Given the description of an element on the screen output the (x, y) to click on. 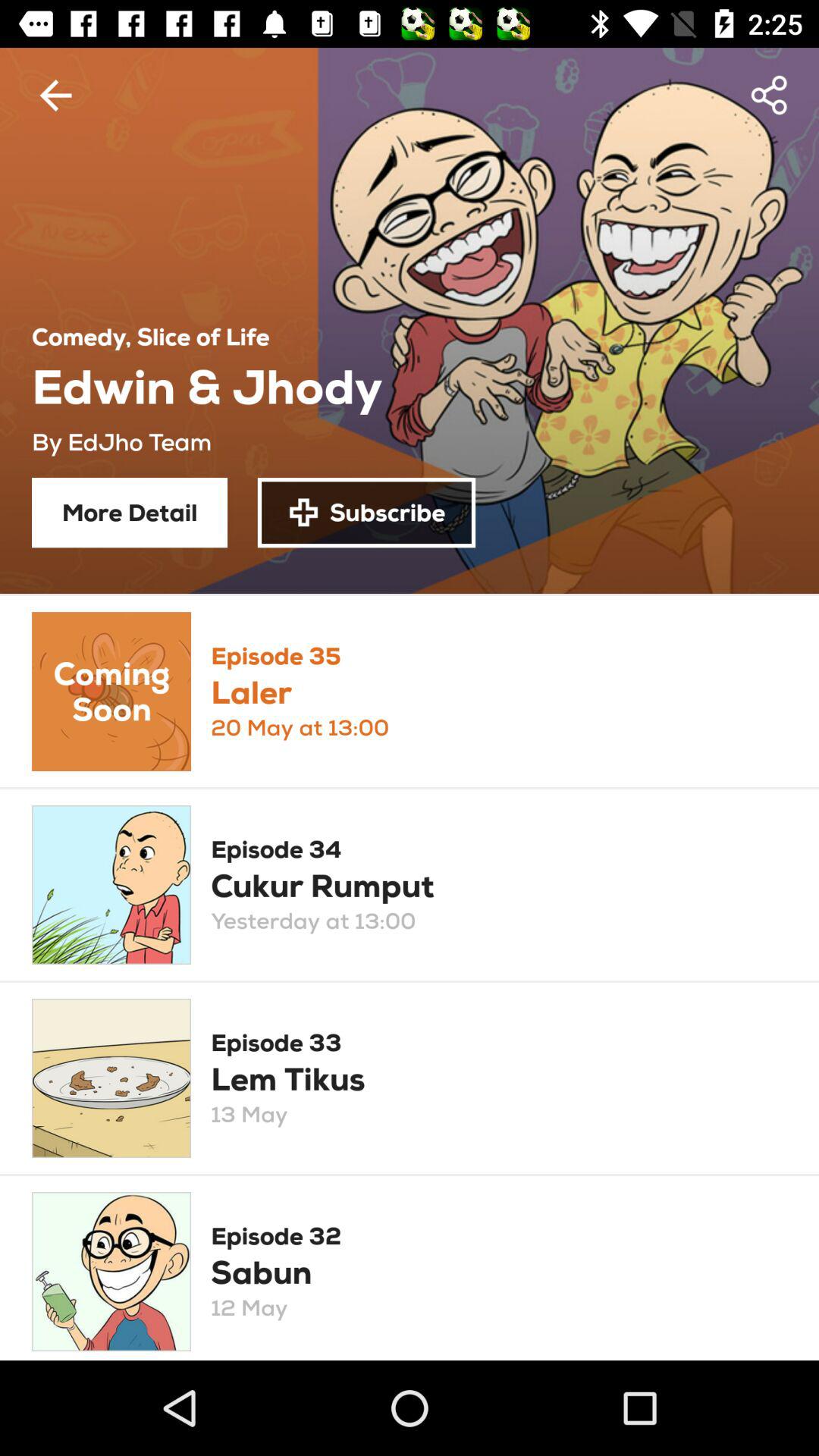
click the item next to subscribe icon (129, 512)
